Given the description of an element on the screen output the (x, y) to click on. 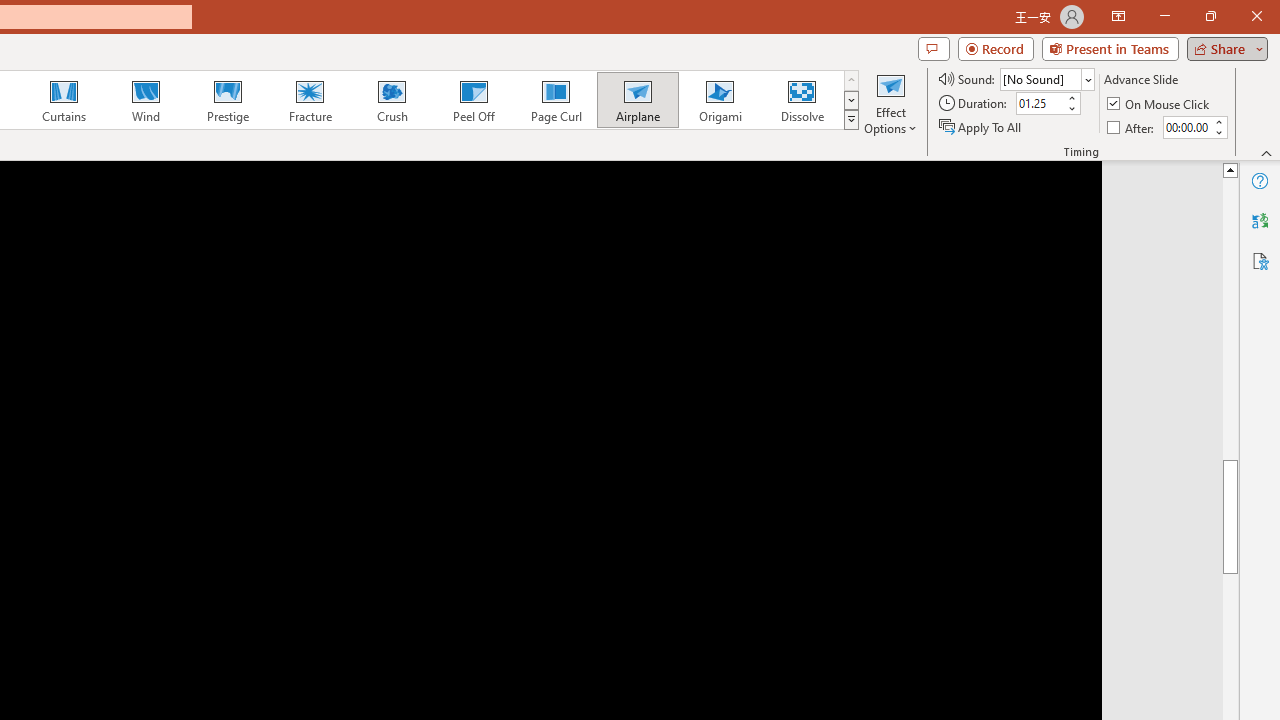
Origami (719, 100)
Curtains (63, 100)
Peel Off (473, 100)
Airplane (637, 100)
